Given the description of an element on the screen output the (x, y) to click on. 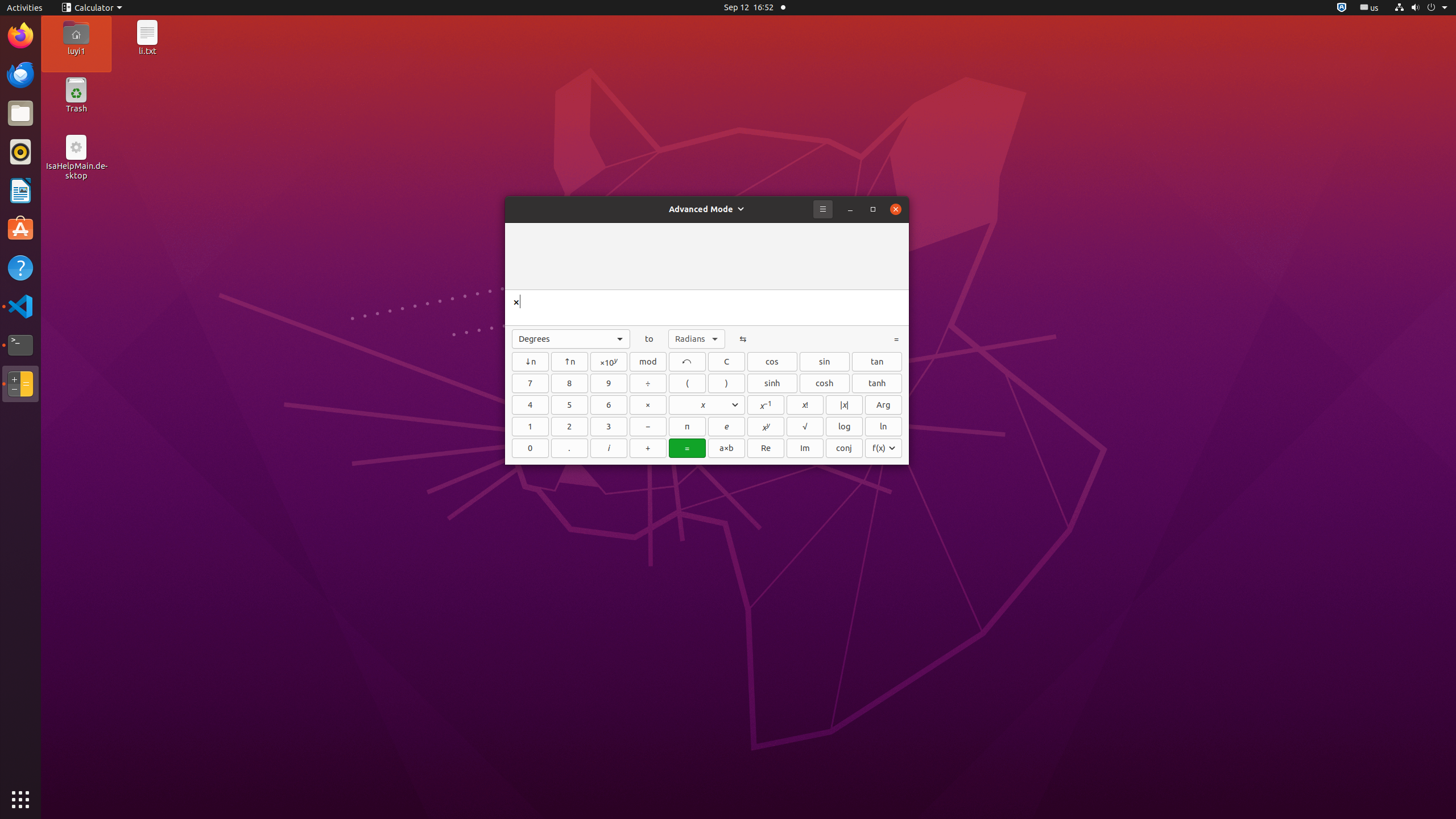
= Element type: label (896, 338)
× Element type: push-button (647, 404)
 to  Element type: push-button (648, 338)
